Given the description of an element on the screen output the (x, y) to click on. 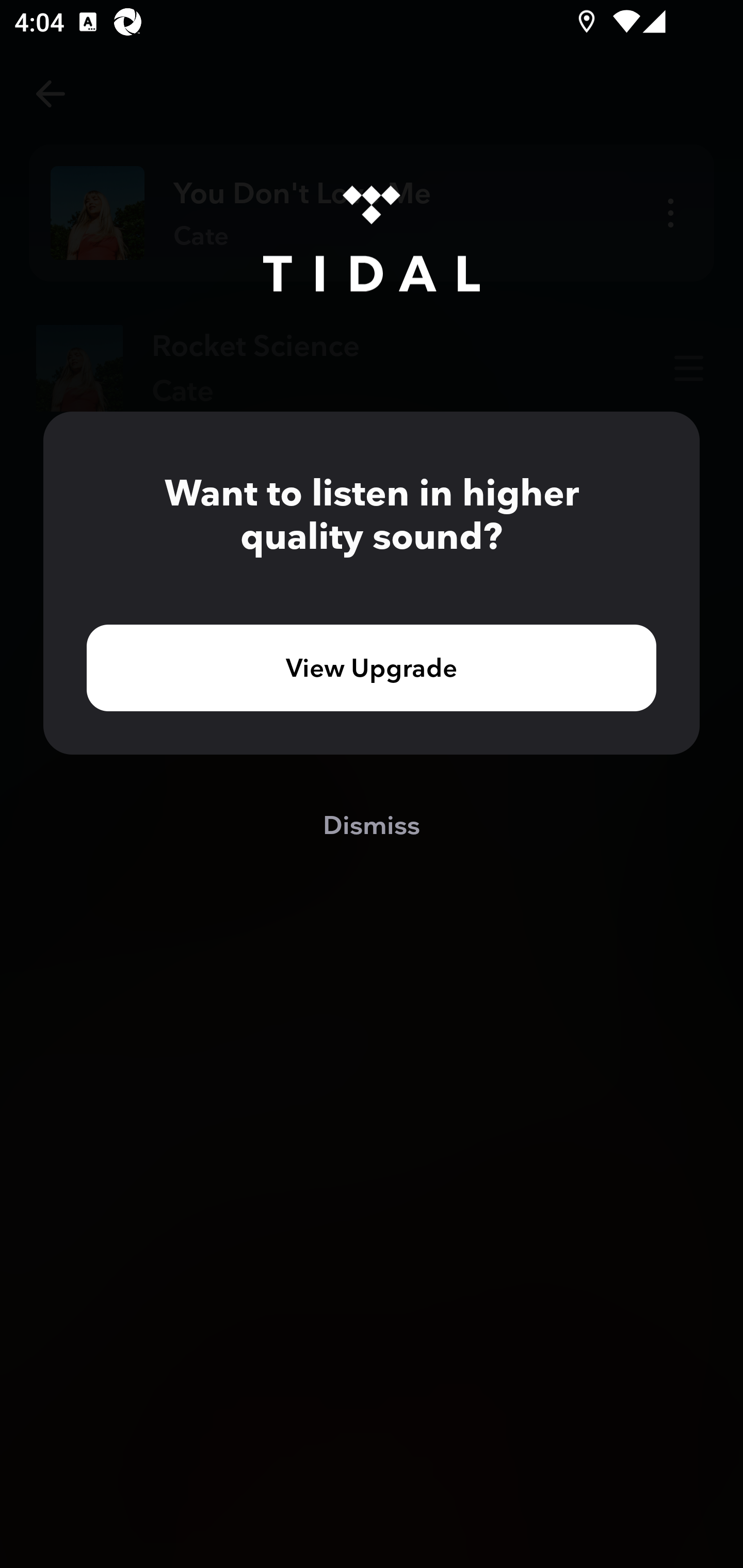
View Upgrade (371, 667)
Dismiss (371, 824)
